Given the description of an element on the screen output the (x, y) to click on. 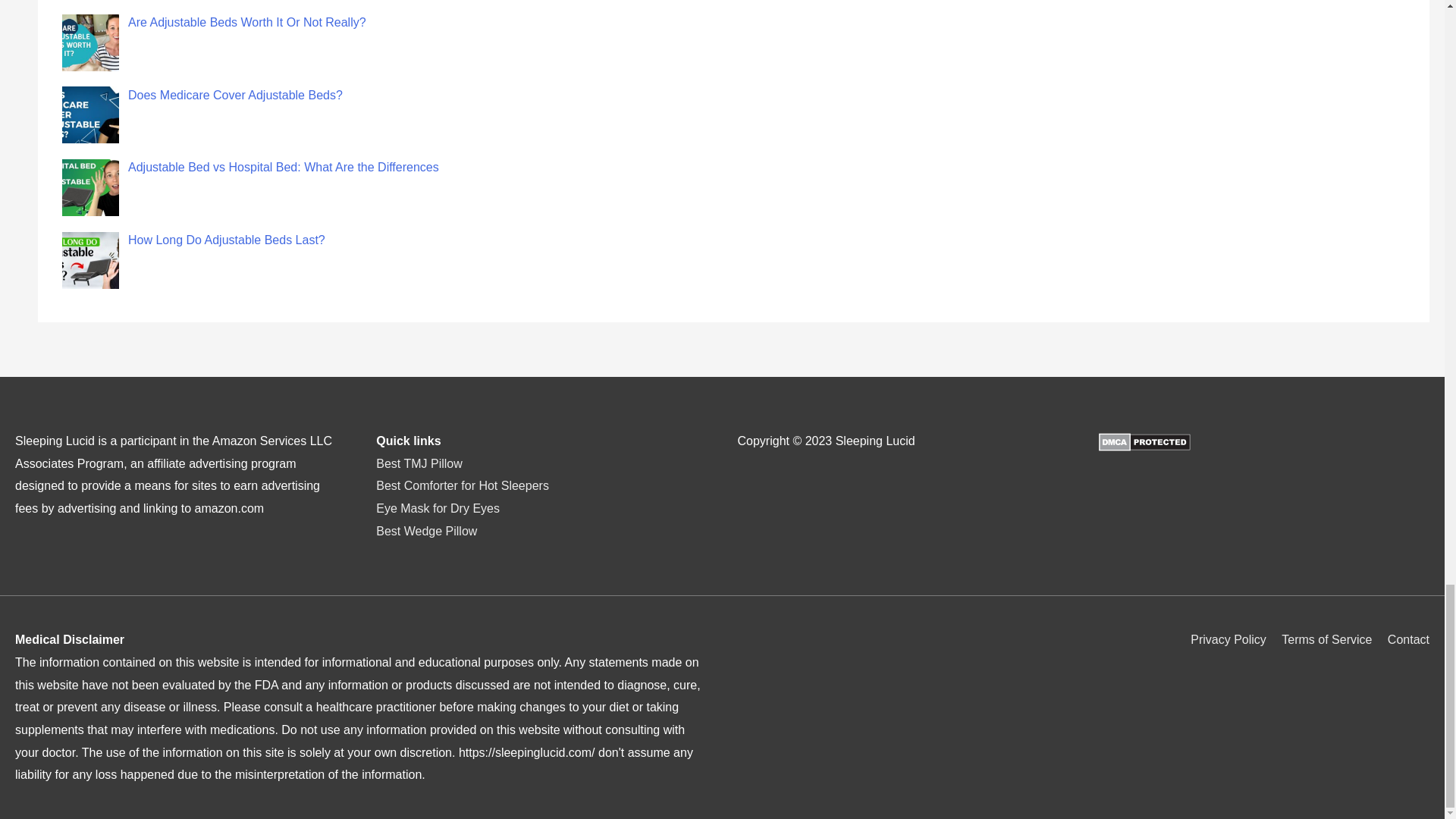
Adjustable Bed vs Hospital Bed: What Are the Differences (283, 166)
Best Comforter for Hot Sleepers (461, 485)
Are Adjustable Beds Worth It Or Not Really? (247, 21)
How Long Do Adjustable Beds Last? (226, 239)
Eye Mask for Dry Eyes (437, 508)
Does Medicare Cover Adjustable Beds? (235, 94)
Best TMJ Pillow (419, 463)
DMCA.com Protection Status (1145, 440)
